Given the description of an element on the screen output the (x, y) to click on. 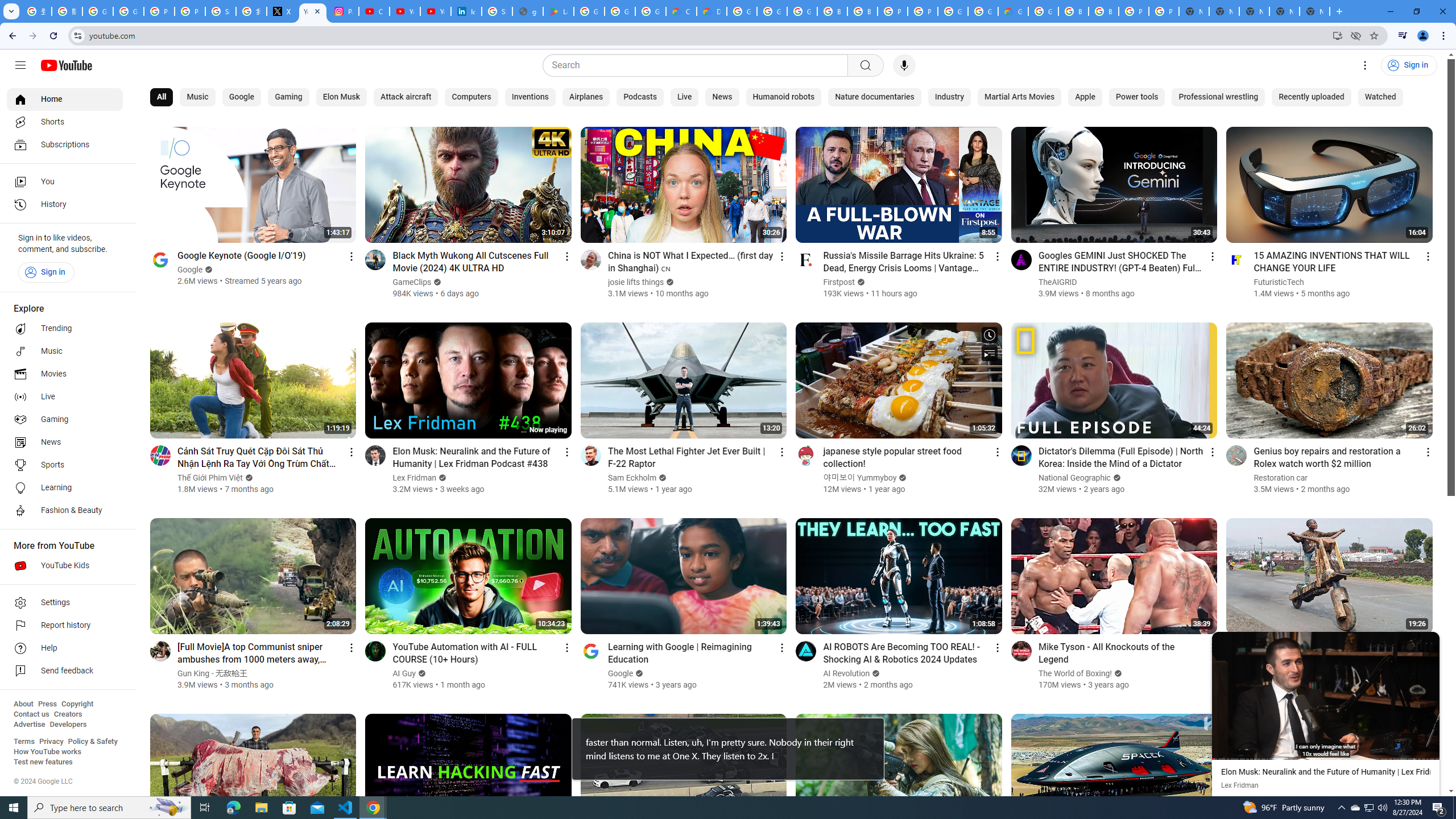
About (23, 703)
Control your music, videos, and more (1402, 35)
Learning (64, 487)
Sam Eckholm (632, 477)
Professional wrestling (1218, 97)
Browse Chrome as a guest - Computer - Google Chrome Help (862, 11)
Settings (64, 602)
